Given the description of an element on the screen output the (x, y) to click on. 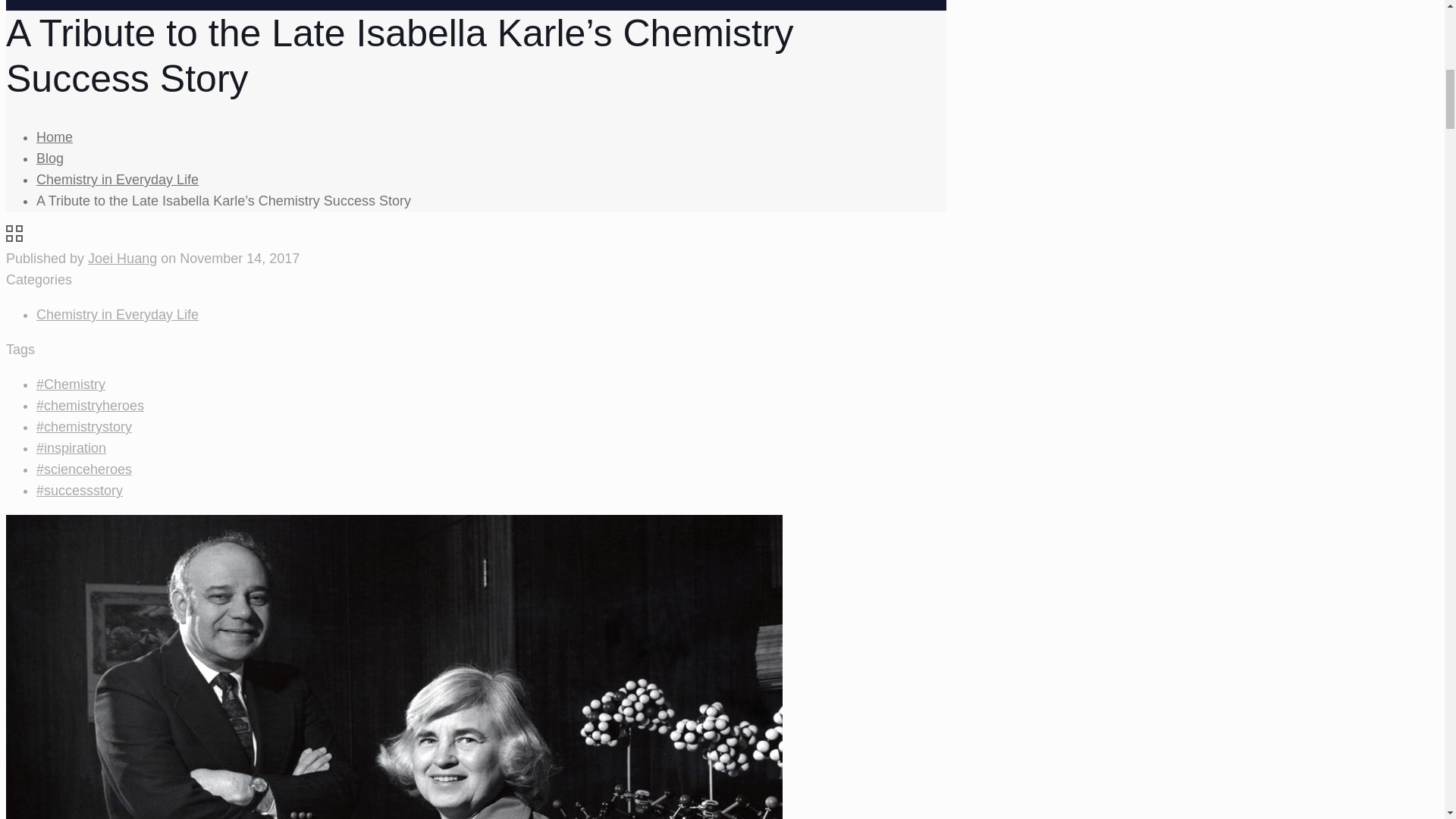
Blog (50, 158)
Joei Huang (122, 258)
Chemistry in Everyday Life (117, 179)
Home (54, 136)
Chemistry in Everyday Life (117, 314)
